Given the description of an element on the screen output the (x, y) to click on. 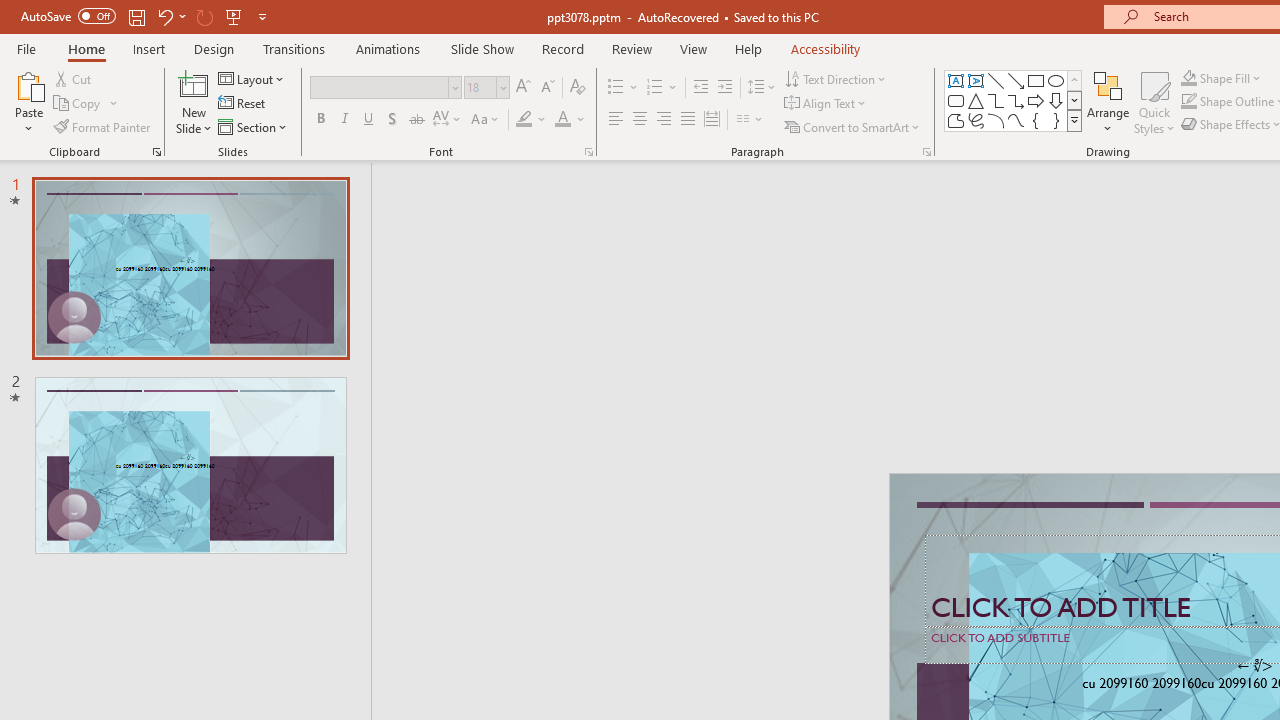
Shape Fill Dark Green, Accent 2 (1188, 78)
Layout (252, 78)
